Given the description of an element on the screen output the (x, y) to click on. 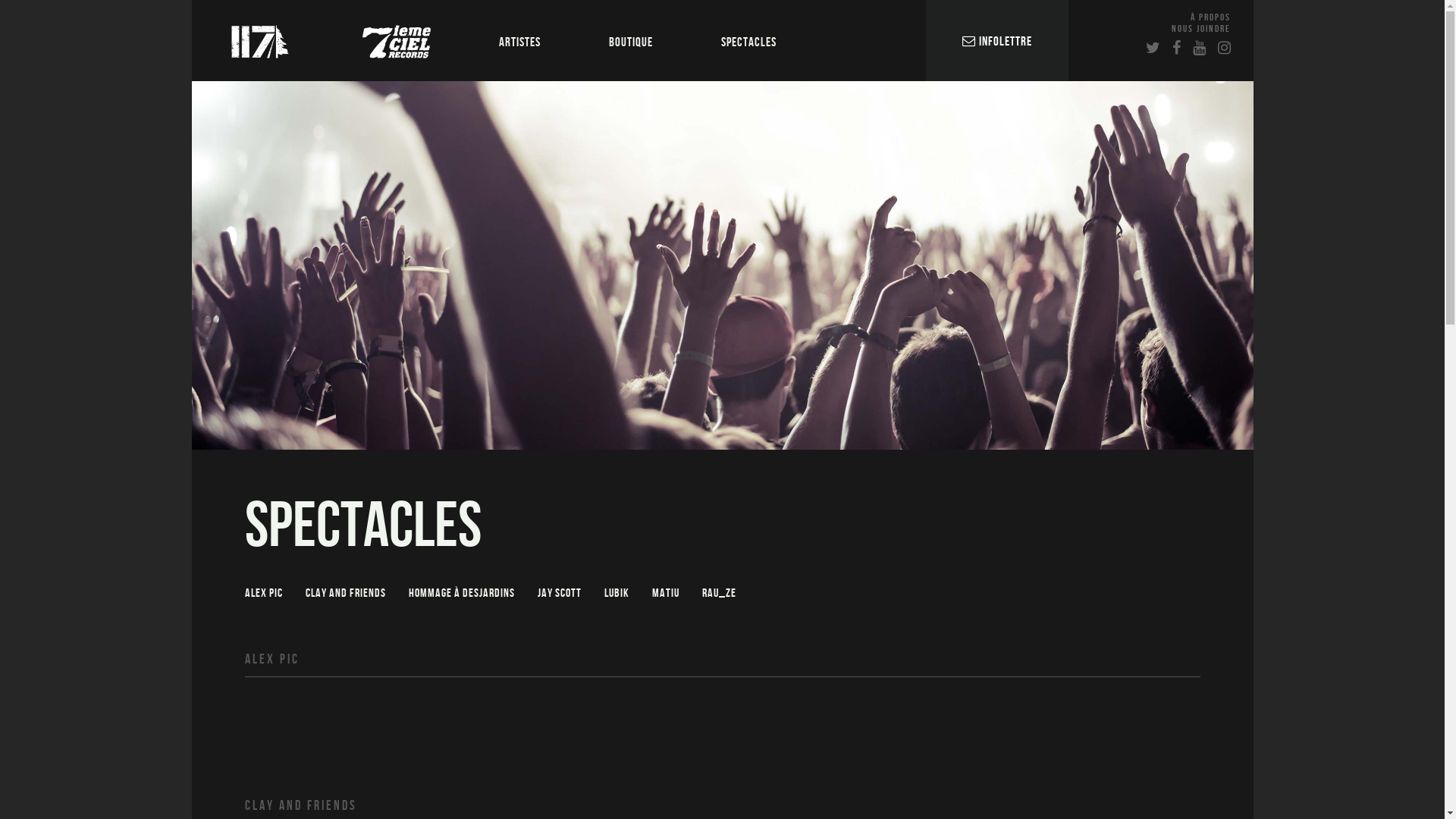
Nous joindre Element type: text (1200, 28)
BOUTIQUE Element type: text (630, 40)
Jay Scott Element type: text (558, 593)
Rau_Ze Element type: text (719, 593)
Alex Pic Element type: text (263, 593)
Clay And Friends Element type: text (344, 593)
ARTISTES Element type: text (519, 40)
SPECTACLES Element type: text (748, 40)
Matiu Element type: text (665, 593)
INFOLETTRE Element type: text (996, 41)
Lubik Element type: text (615, 593)
